Given the description of an element on the screen output the (x, y) to click on. 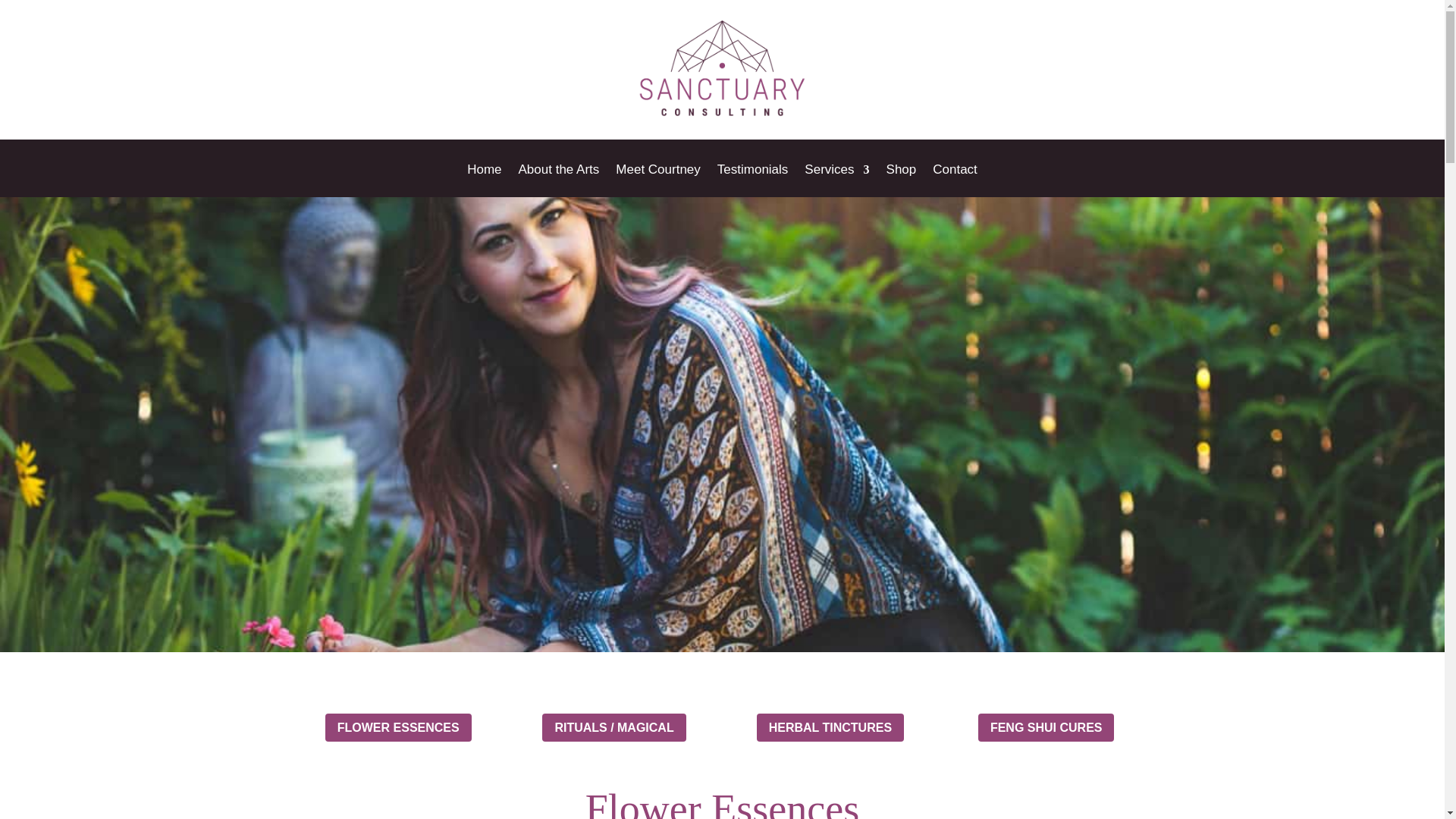
Shop (901, 180)
Contact (954, 180)
Testimonials (753, 180)
FLOWER ESSENCES (397, 727)
sanctuary-logo-02 (722, 69)
HERBAL TINCTURES (830, 727)
Meet Courtney (657, 180)
FENG SHUI CURES (1046, 727)
Home (483, 180)
Services (837, 180)
About the Arts (558, 180)
